Given the description of an element on the screen output the (x, y) to click on. 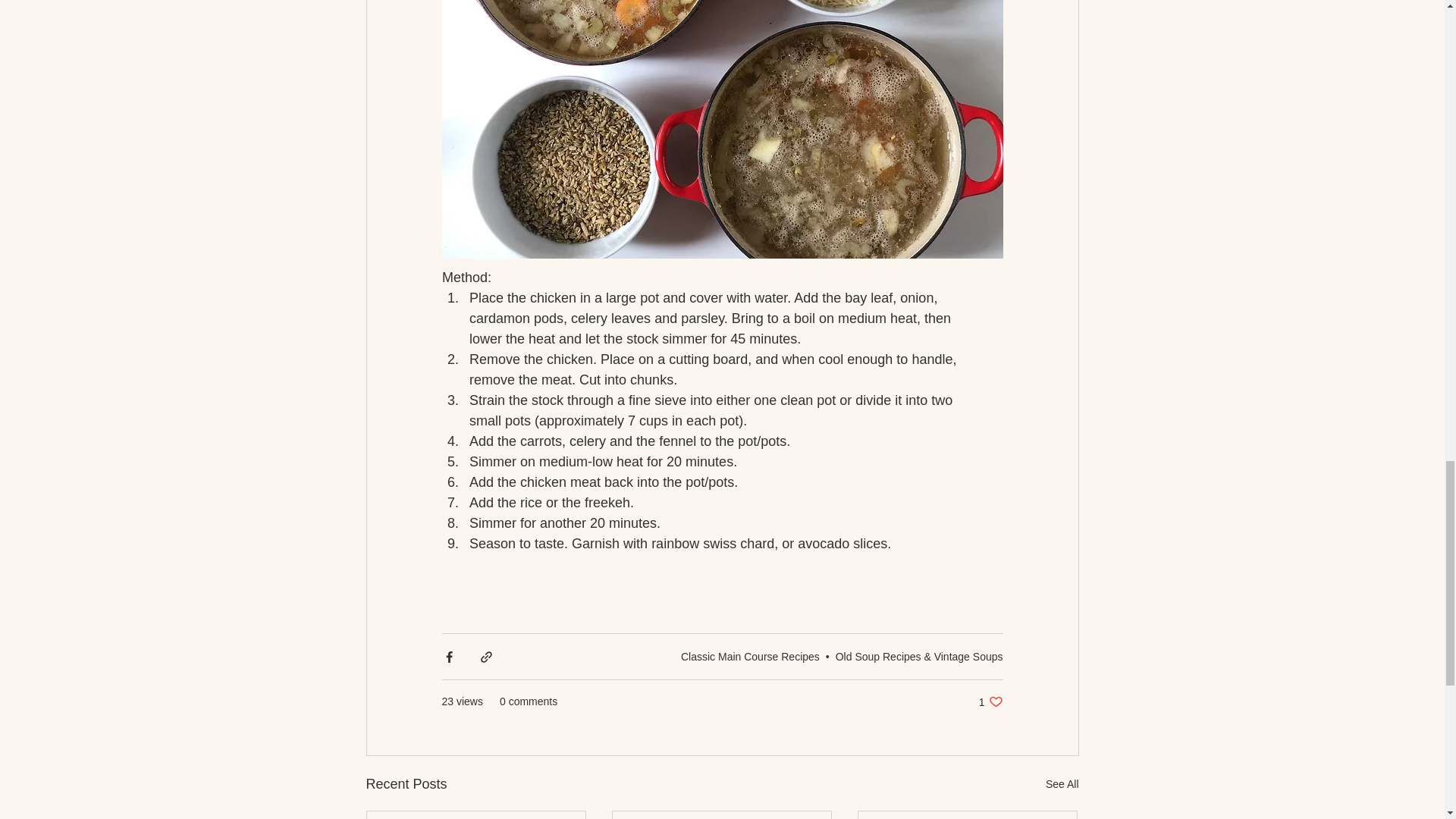
Classic Main Course Recipes (990, 701)
See All (750, 656)
